Given the description of an element on the screen output the (x, y) to click on. 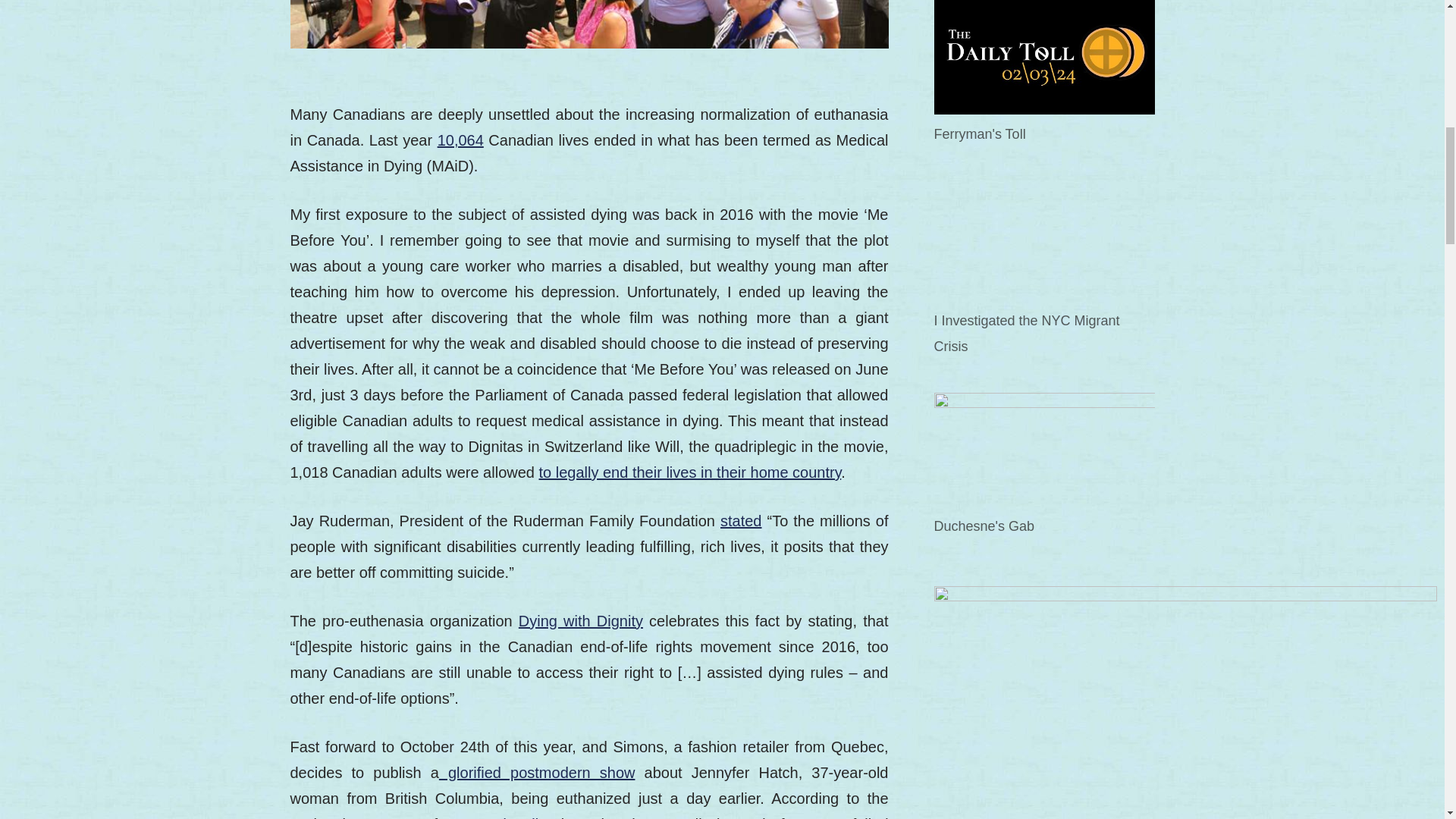
10,064 (460, 139)
I Investigated the NYC Migrant Crisis (1044, 239)
stated (740, 520)
wanted to live (505, 817)
to legally end their lives in their home country (689, 472)
Dying with Dignity (580, 620)
glorified postmodern show (536, 772)
